Given the description of an element on the screen output the (x, y) to click on. 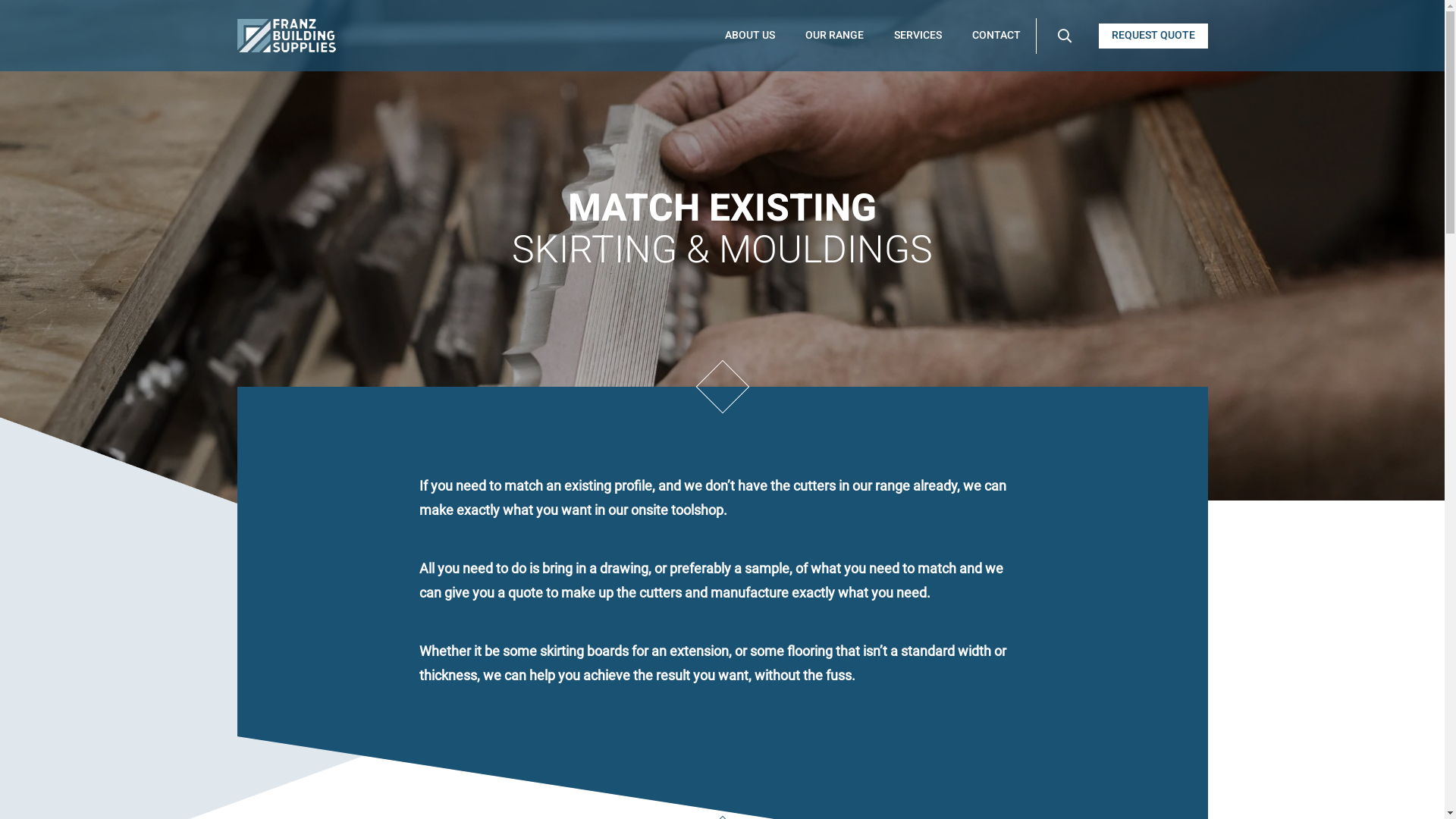
ABOUT US Element type: text (749, 35)
CONTACT Element type: text (996, 35)
OUR RANGE Element type: text (834, 35)
REQUEST QUOTE Element type: text (1152, 34)
SEARCH Element type: text (1063, 34)
SERVICES Element type: text (917, 35)
